Given the description of an element on the screen output the (x, y) to click on. 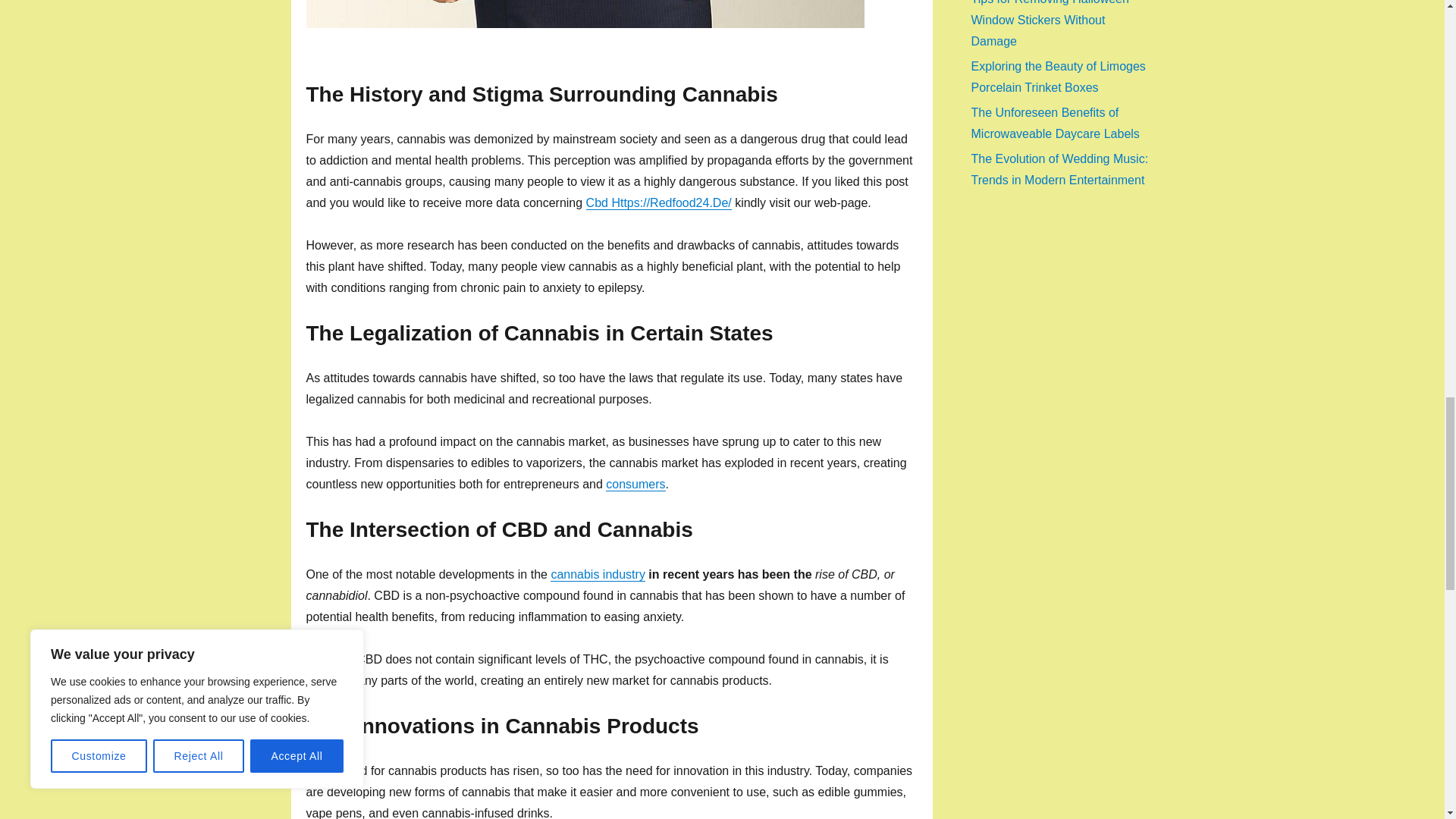
cannabis industry (597, 574)
consumers (635, 483)
